Given the description of an element on the screen output the (x, y) to click on. 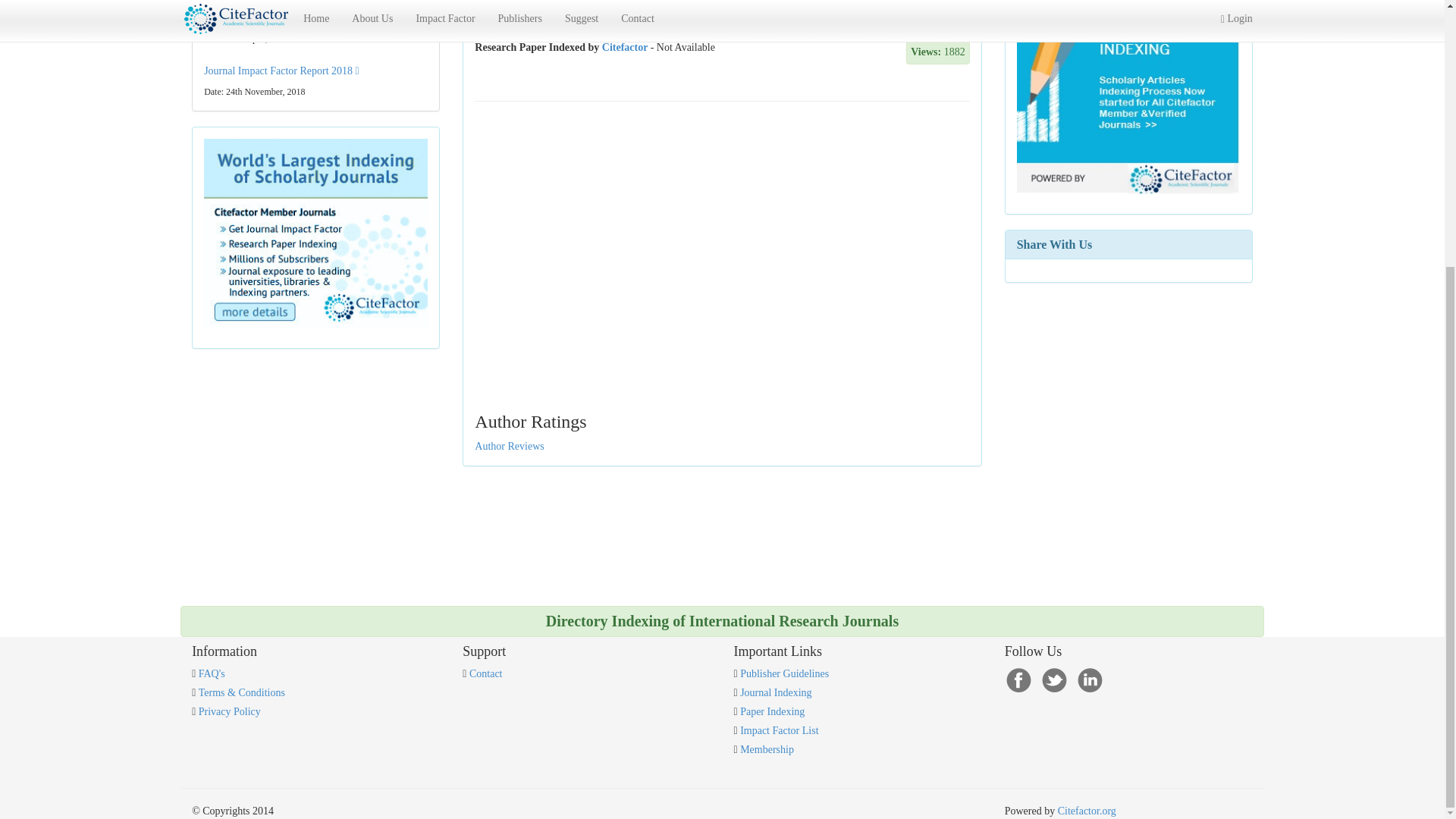
Advertisement (267, 439)
Author Reviews (508, 446)
Citefactor (624, 47)
Citefactor Research paper indexing (1128, 99)
Advertisement (721, 178)
FAQ's (211, 673)
Journal Impact Factor Report 2018 (281, 70)
Advertisement (1342, 60)
Advertisement (1080, 373)
Citefactor International Journal Indexing (315, 233)
